Given the description of an element on the screen output the (x, y) to click on. 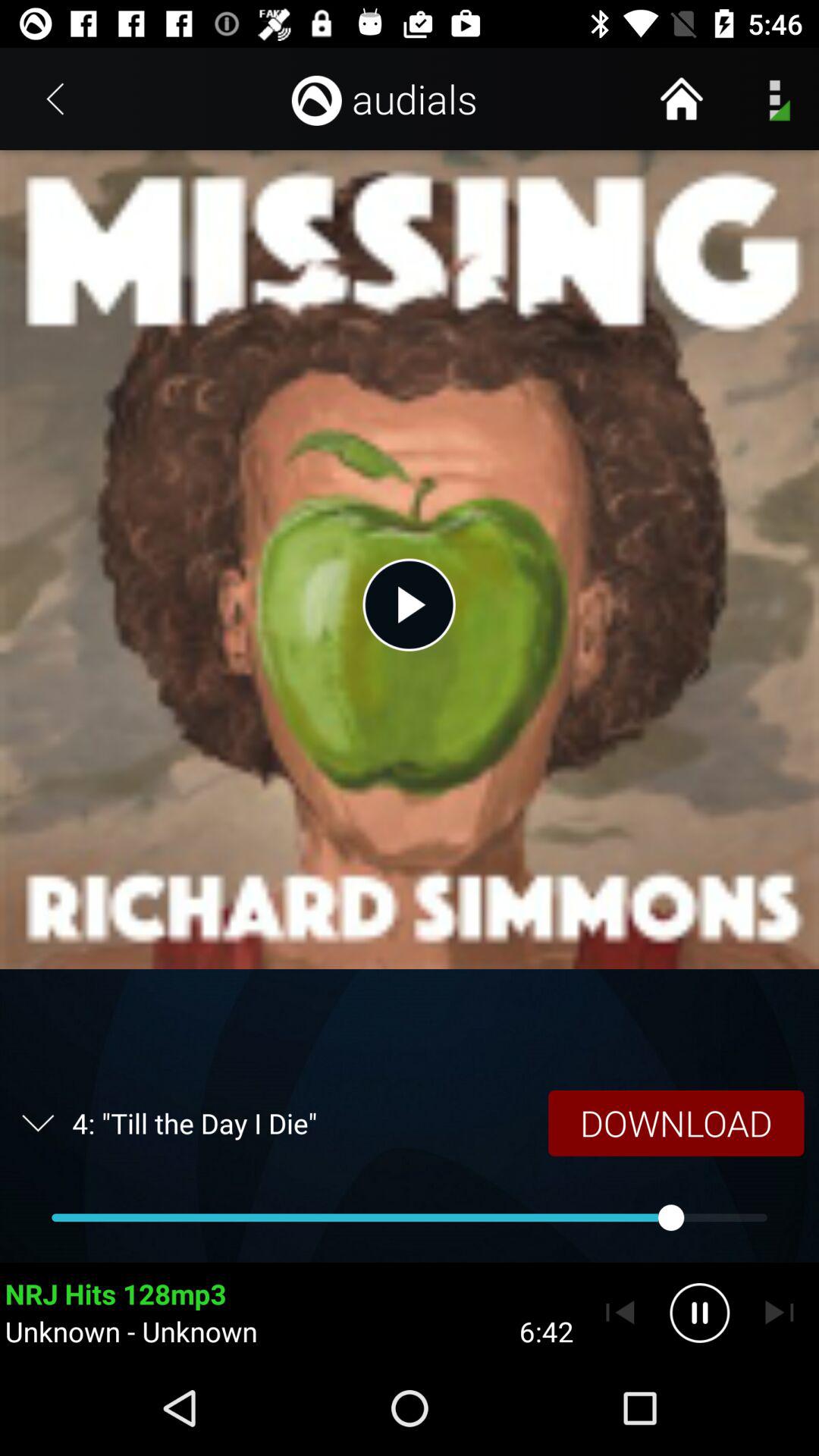
press the icon above the 4 till the (408, 604)
